Given the description of an element on the screen output the (x, y) to click on. 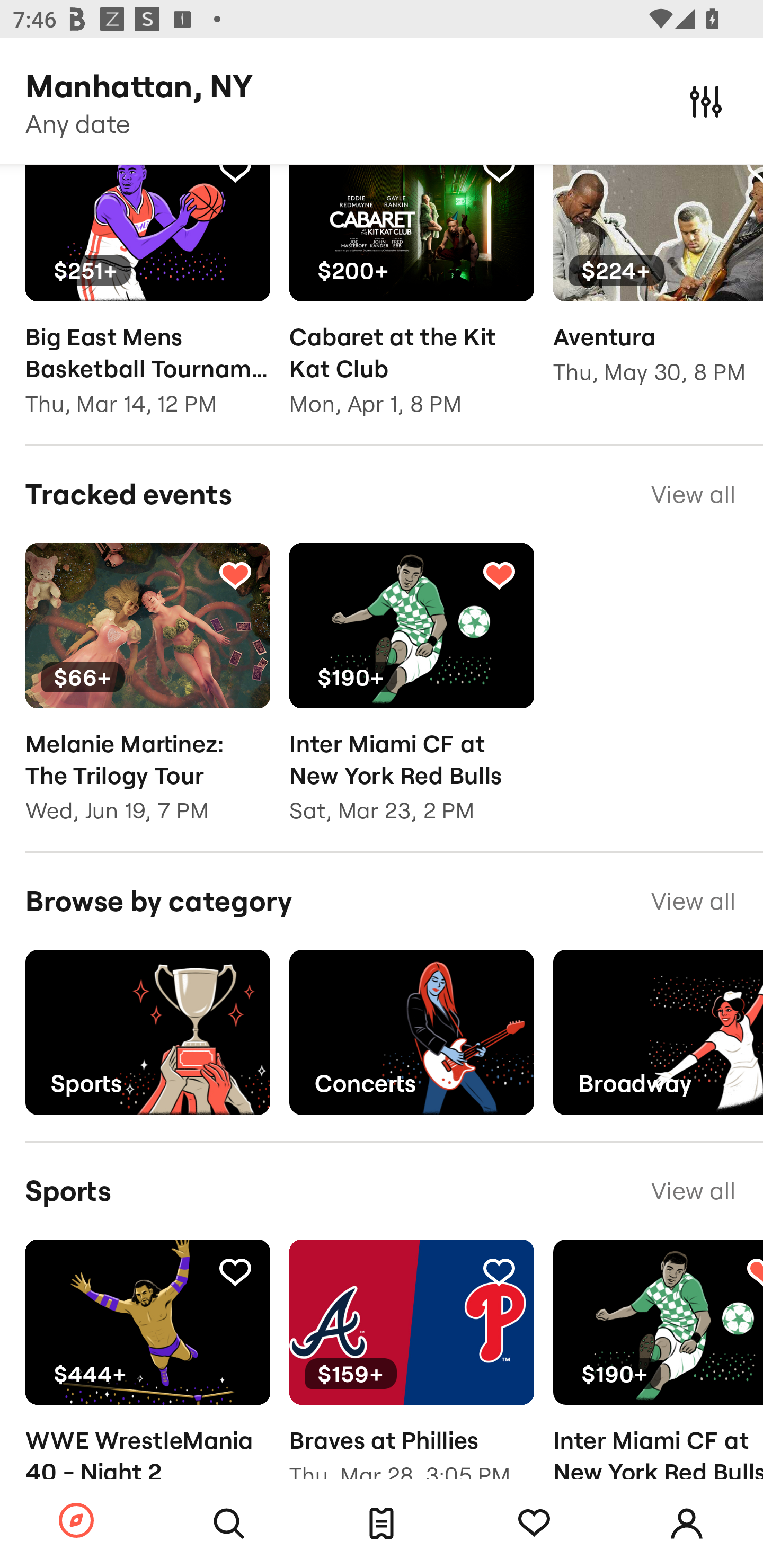
Close (705, 100)
Tracking (234, 175)
Tracking (498, 175)
Tracking $224+ Aventura Thu, May 30, 8 PM (658, 287)
View all (693, 493)
Tracking (234, 574)
Tracking (498, 574)
View all (693, 901)
Sports (147, 1032)
Concerts (411, 1032)
Broadway (658, 1032)
View all (693, 1191)
Tracking (234, 1271)
Tracking (498, 1271)
Browse (76, 1521)
Search (228, 1523)
Tickets (381, 1523)
Tracking (533, 1523)
Account (686, 1523)
